Given the description of an element on the screen output the (x, y) to click on. 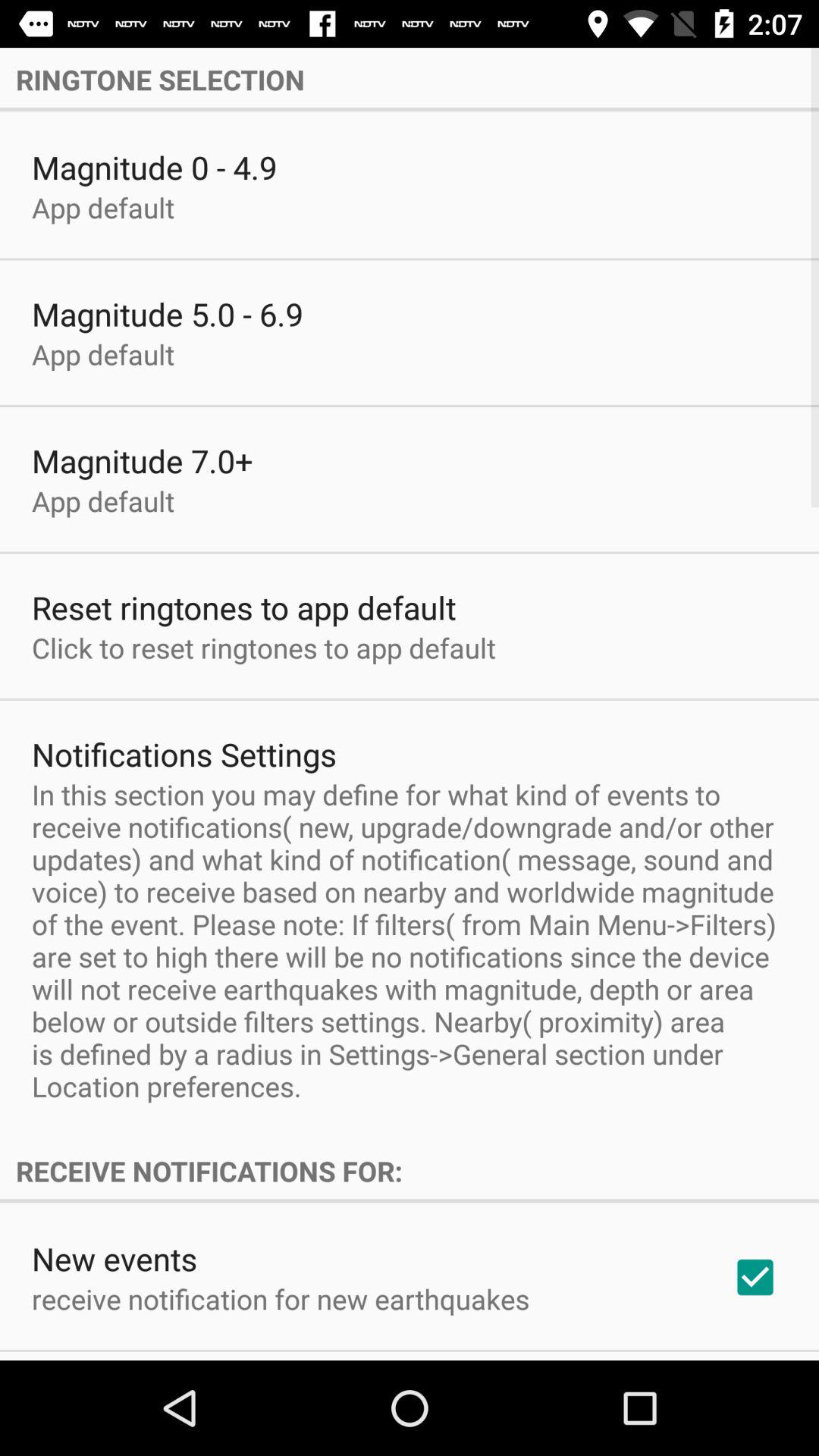
click notifications settings icon (183, 753)
